Given the description of an element on the screen output the (x, y) to click on. 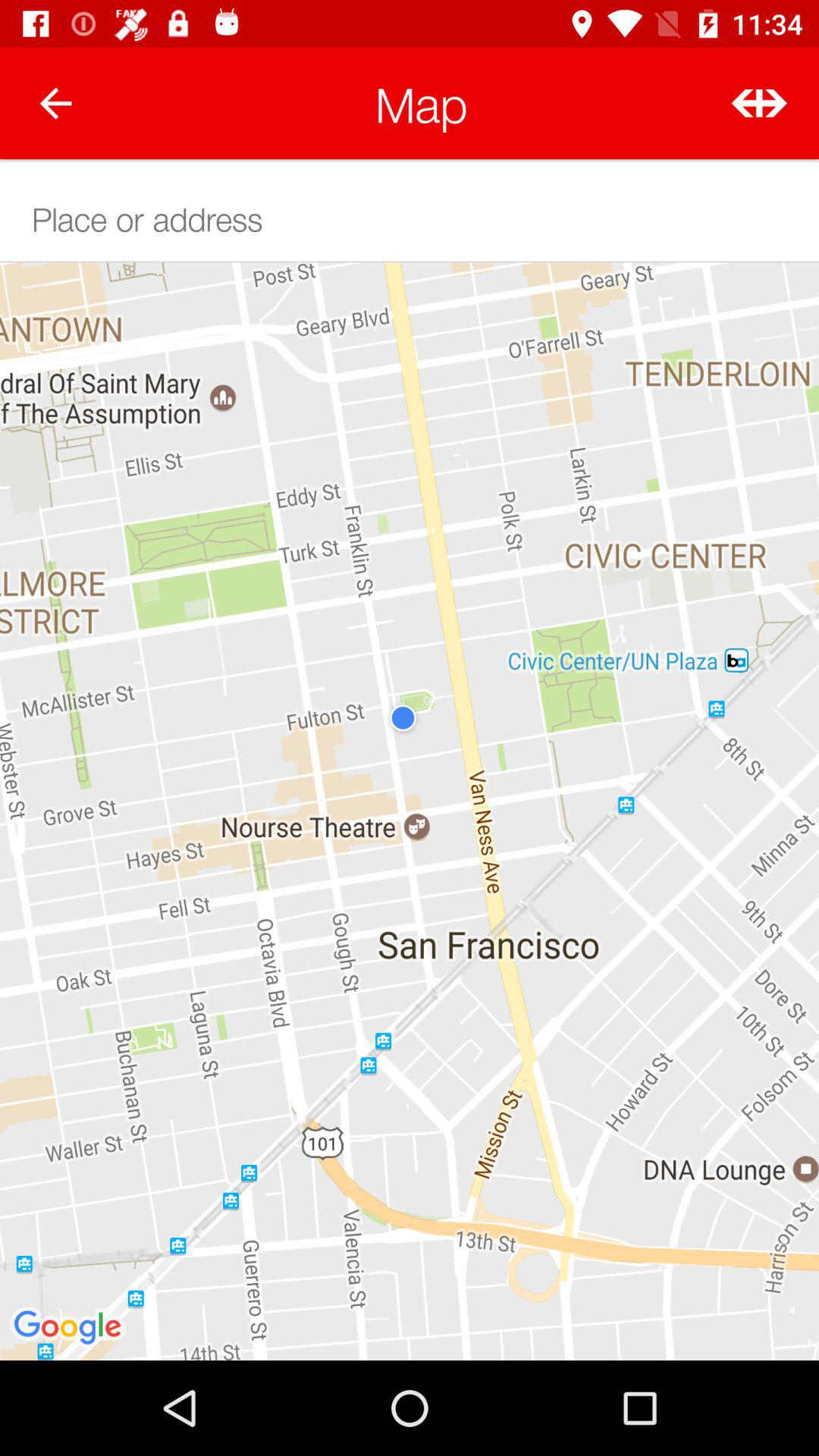
type the address (409, 216)
